Given the description of an element on the screen output the (x, y) to click on. 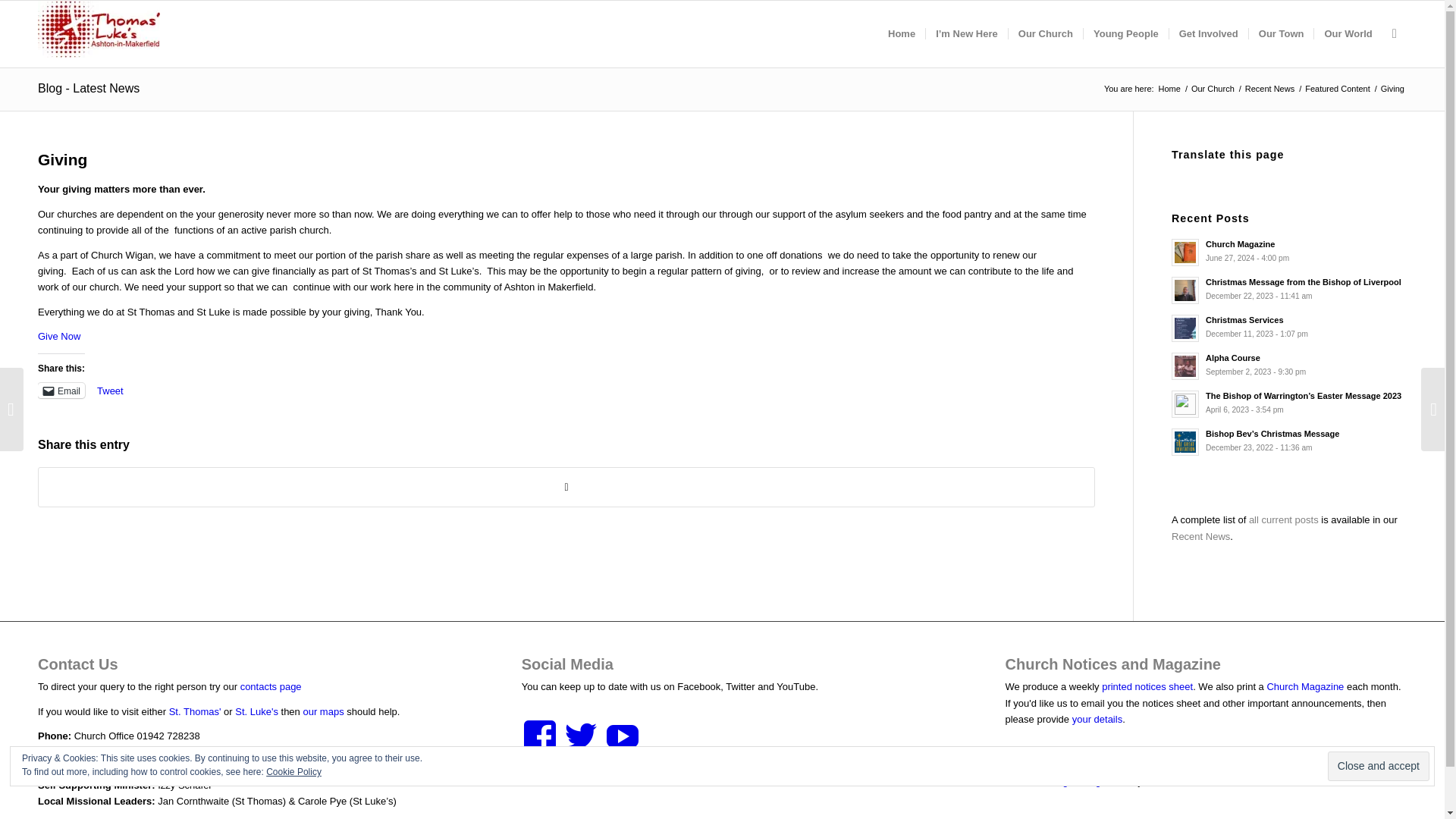
Close and accept (1378, 766)
St. Thomas' and St. Luke's Church, Ashton-In-Makerfield (1169, 89)
Get Involved (1208, 33)
Click to email a link to a friend (60, 390)
Our World (1347, 33)
Our Church (1212, 89)
Read: Christmas Services (1185, 328)
Churchlogoheader (98, 28)
Permanent Link: Blog - Latest News (88, 88)
Recent News (1270, 89)
